Given the description of an element on the screen output the (x, y) to click on. 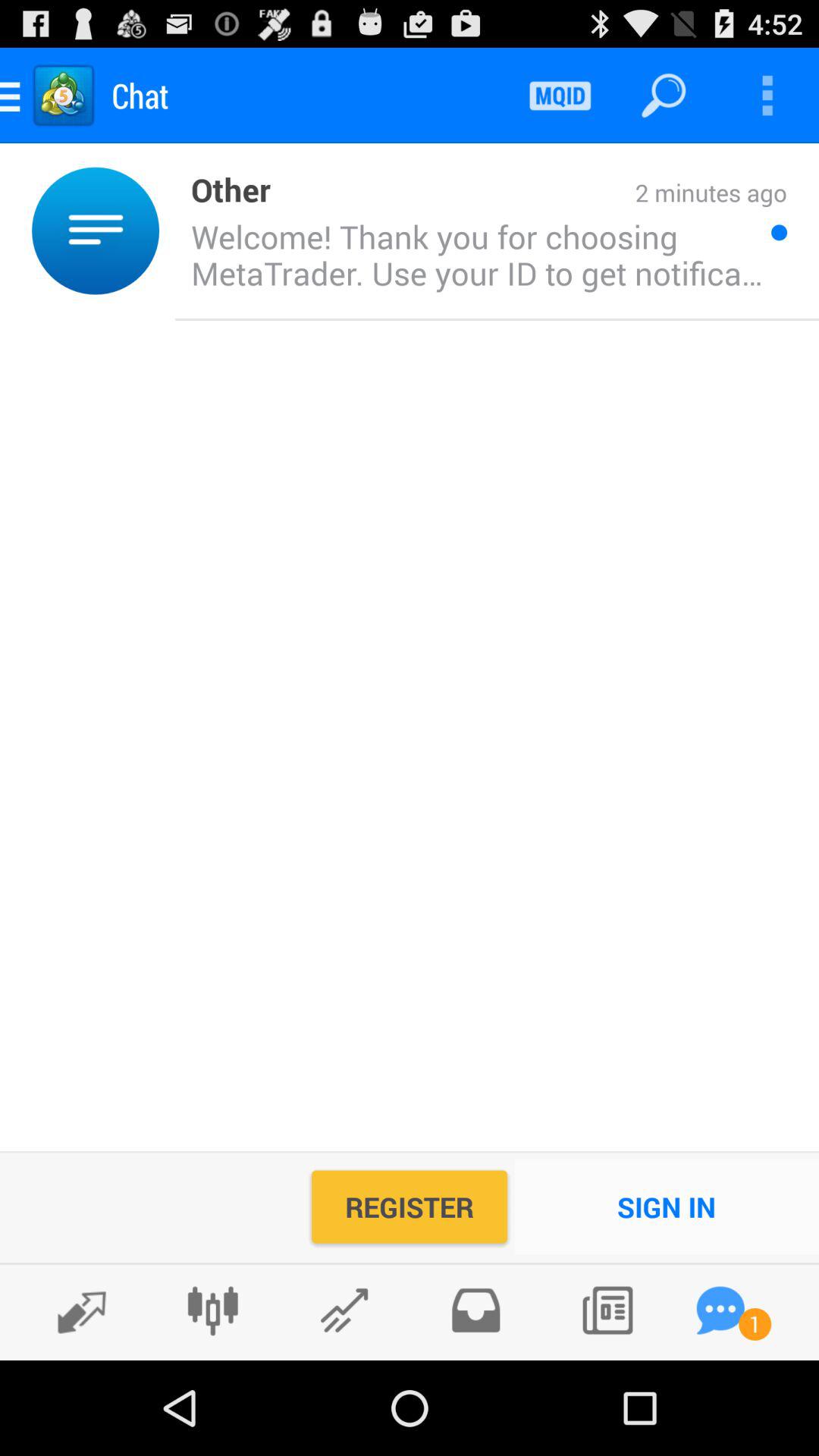
open instant chat (720, 1310)
